Given the description of an element on the screen output the (x, y) to click on. 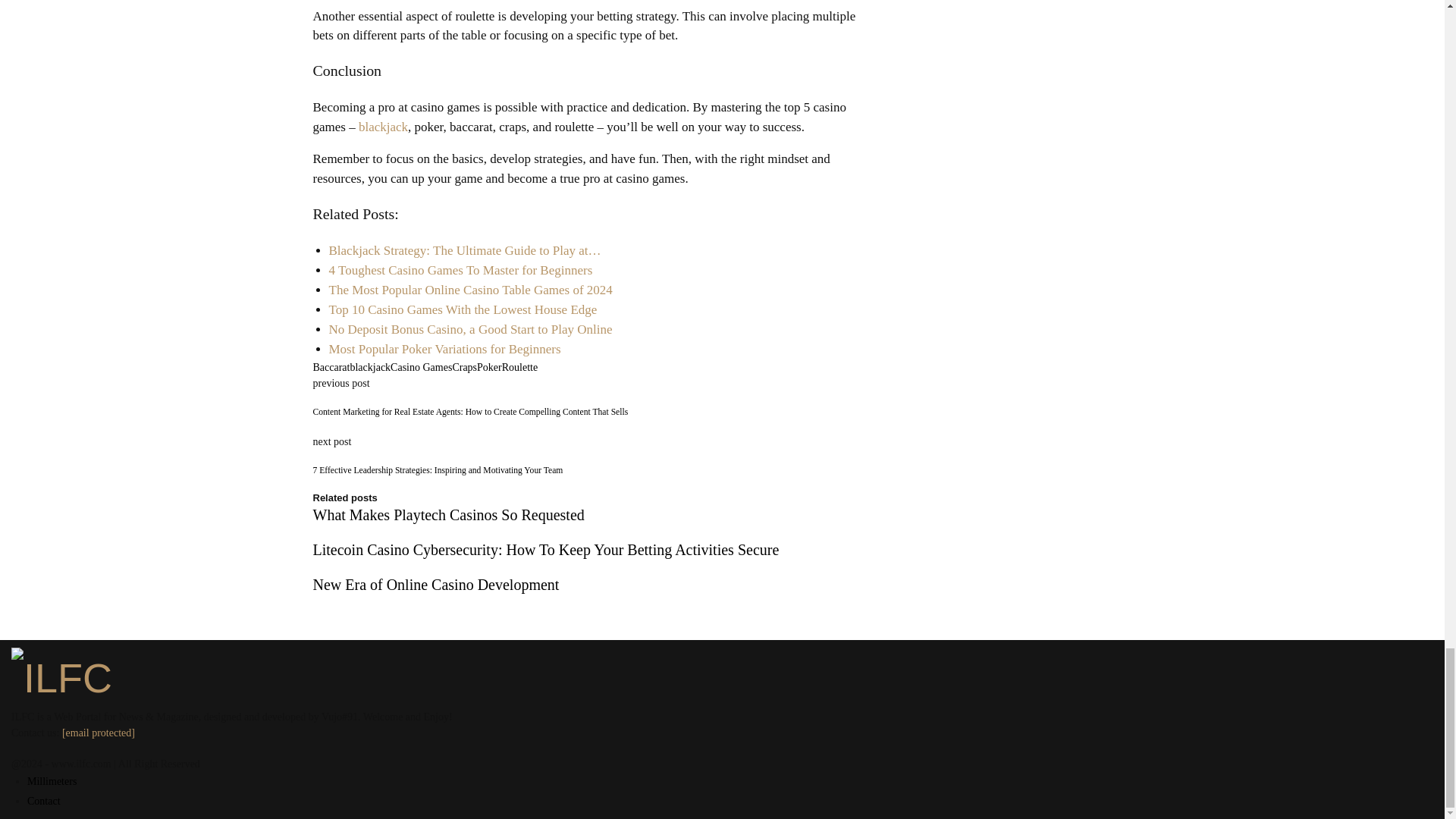
Baccarat (331, 367)
Casino Games (420, 367)
Top 10 Casino Games With the Lowest House Edge (462, 309)
Roulette (519, 367)
The Most Popular Online Casino Table Games of 2024 (470, 289)
Craps (464, 367)
Poker (489, 367)
No Deposit Bonus Casino, a Good Start to Play Online (470, 329)
blackjack (382, 126)
4 Toughest Casino Games To Master for Beginners (460, 269)
blackjack (369, 367)
Most Popular Poker Variations for Beginners (444, 349)
